Given the description of an element on the screen output the (x, y) to click on. 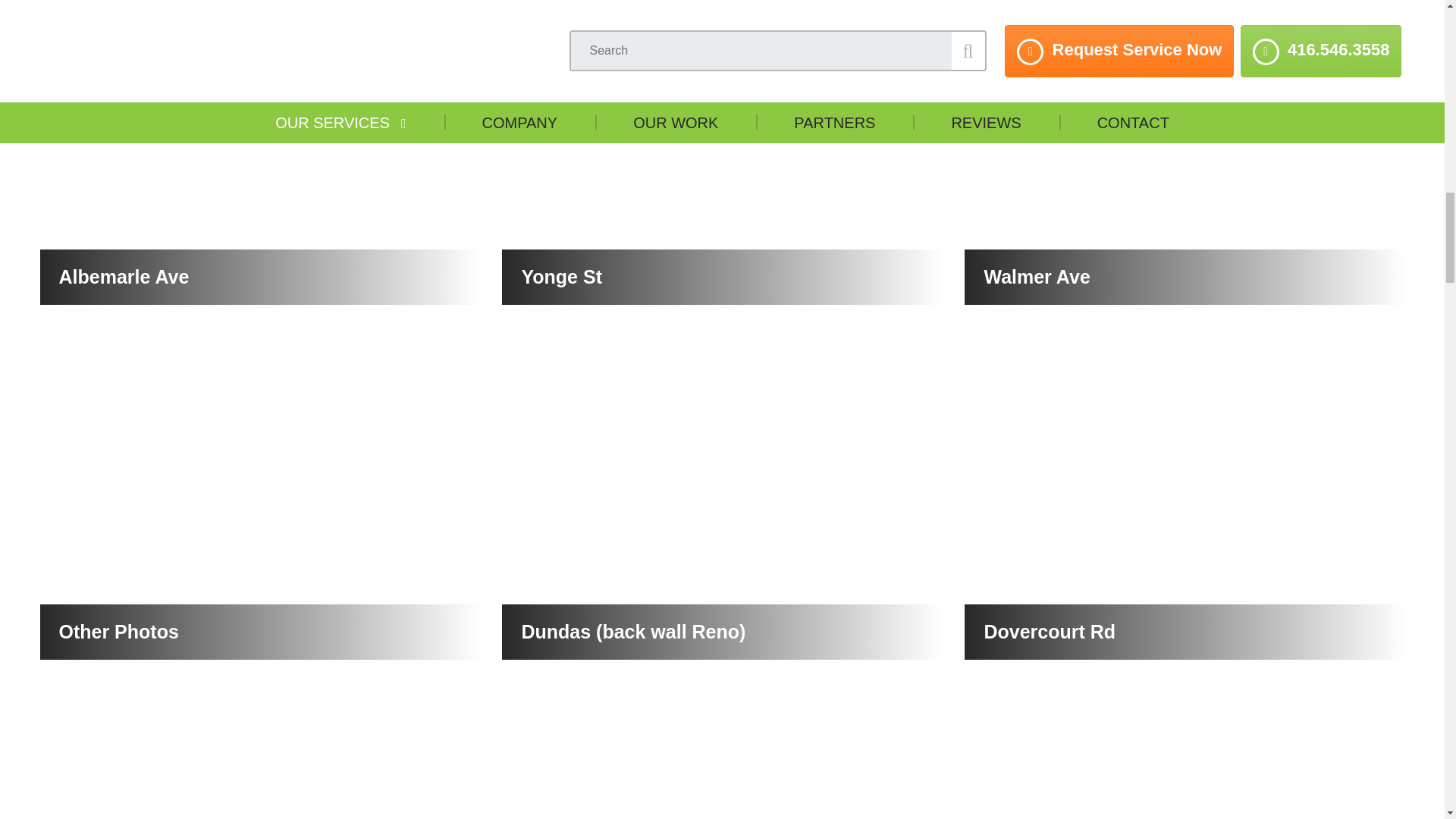
Albemarle Ave (259, 152)
Osler St (259, 757)
Golfdale (1184, 757)
Rhodes Ave (722, 757)
Yonge St (722, 152)
